Given the description of an element on the screen output the (x, y) to click on. 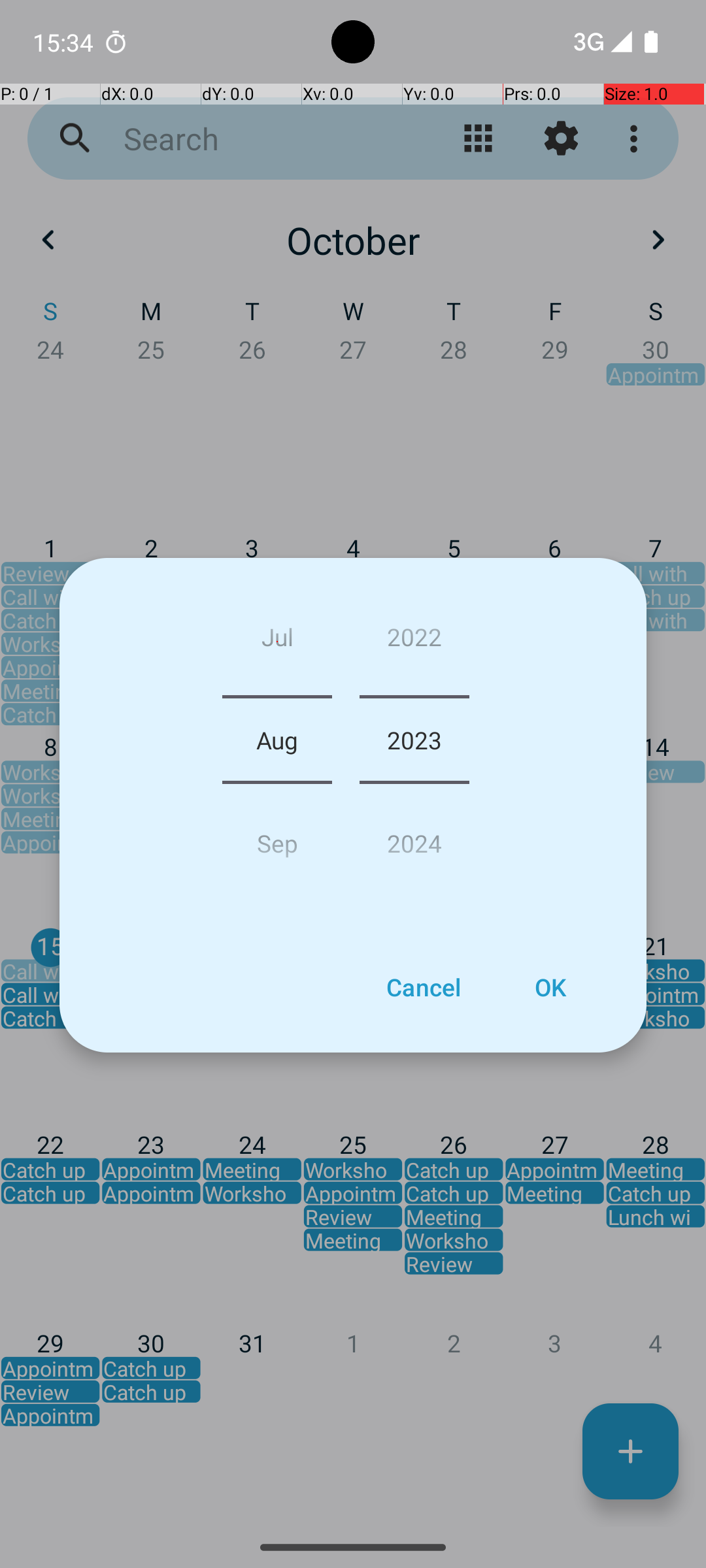
Jul Element type: android.widget.Button (277, 641)
Aug Element type: android.widget.EditText (277, 739)
